Given the description of an element on the screen output the (x, y) to click on. 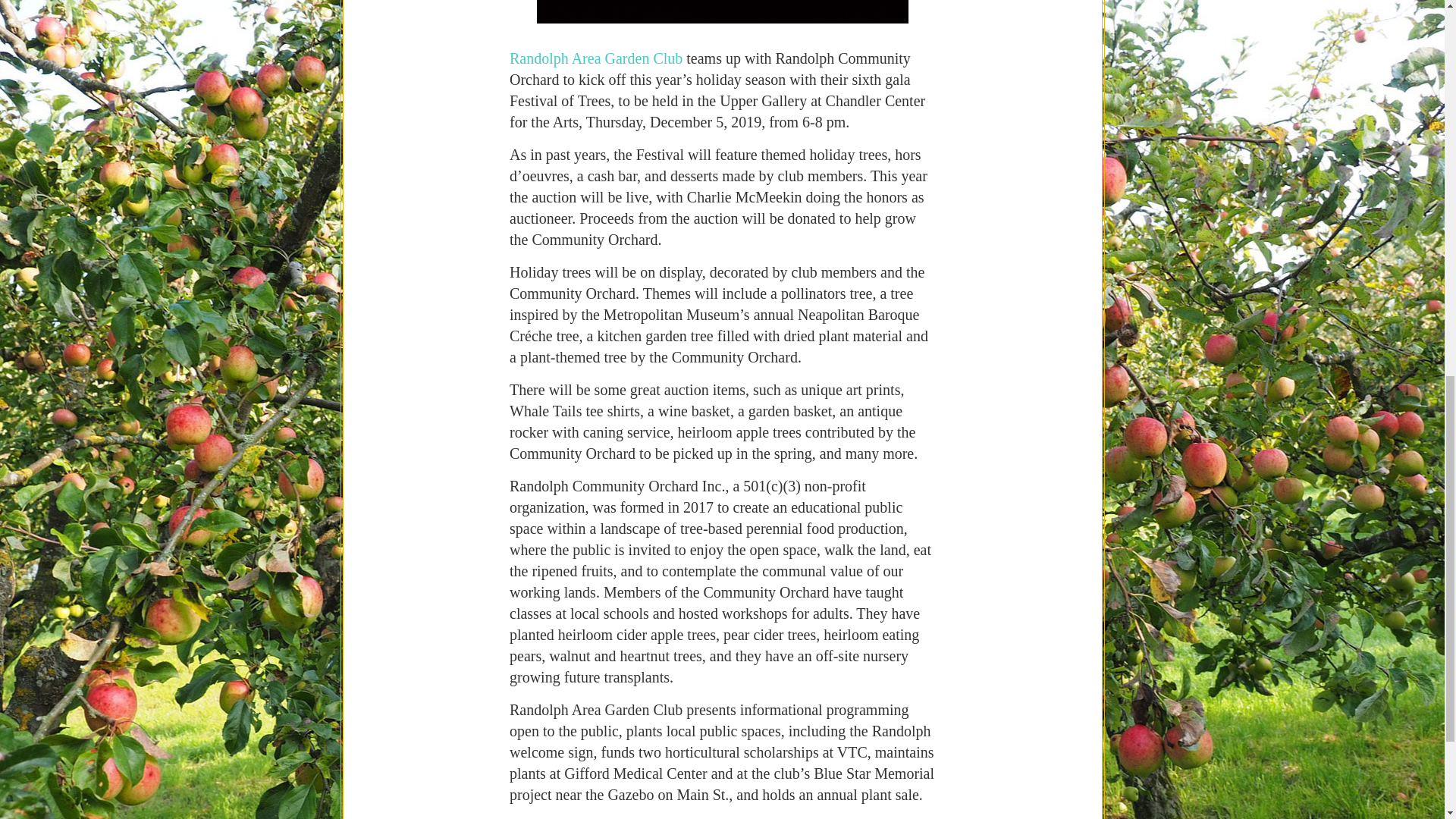
Randolph Area Garden Club (721, 33)
